Given the description of an element on the screen output the (x, y) to click on. 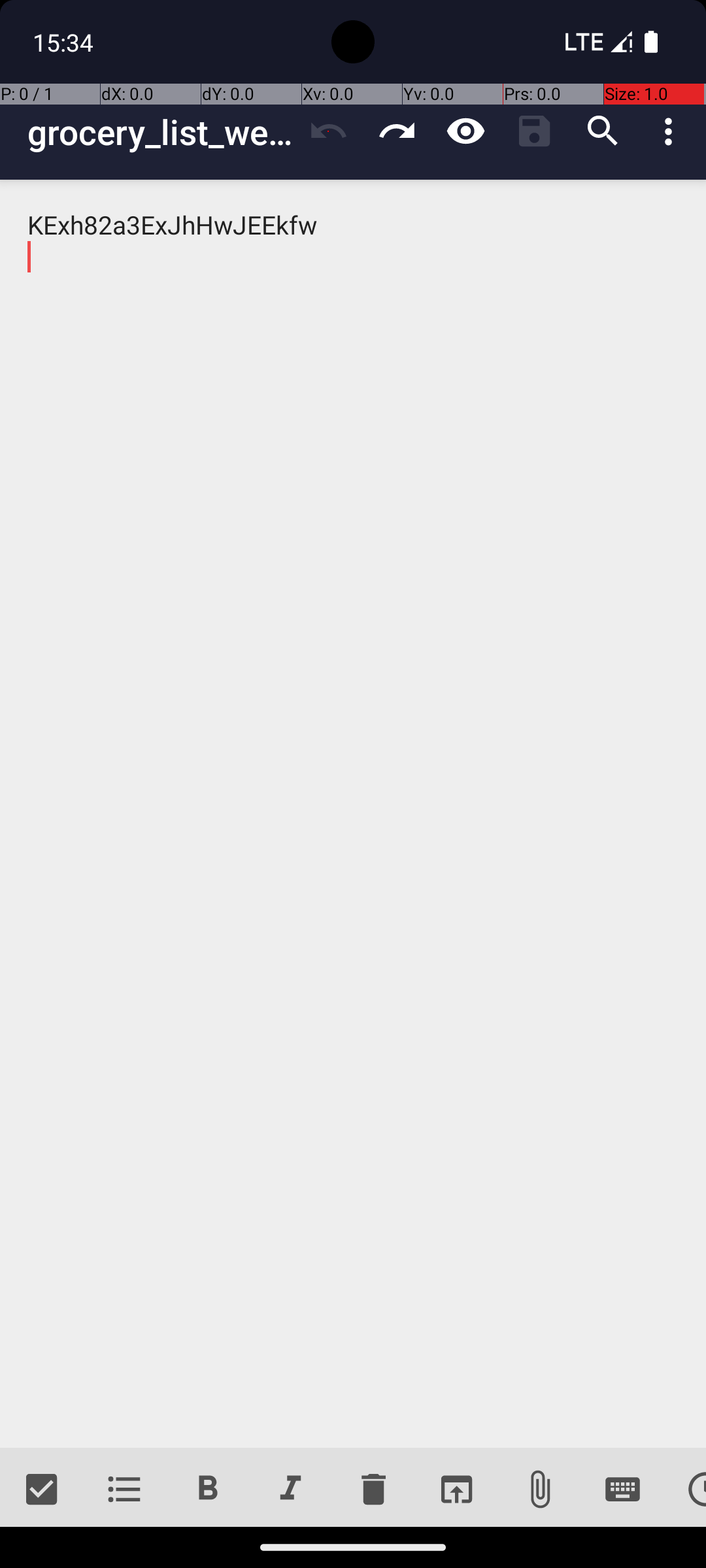
grocery_list_weekly_XyAc Element type: android.widget.TextView (160, 131)
Undo Element type: android.widget.TextView (328, 131)
Redo Element type: android.widget.TextView (396, 131)
View mode Element type: android.widget.TextView (465, 131)
KExh82a3ExJhHwJEEkfw
- [ ]  Element type: android.widget.EditText (353, 813)
Check list Element type: android.widget.ImageView (41, 1488)
Unordered list Element type: android.widget.ImageView (124, 1488)
Bold Element type: android.widget.ImageView (207, 1488)
Italic Element type: android.widget.ImageView (290, 1488)
Delete lines Element type: android.widget.ImageView (373, 1488)
Open link Element type: android.widget.ImageView (456, 1488)
Attach Element type: android.widget.ImageView (539, 1488)
Special Key Element type: android.widget.ImageView (622, 1488)
Date and time Element type: android.widget.ImageView (685, 1488)
